Given the description of an element on the screen output the (x, y) to click on. 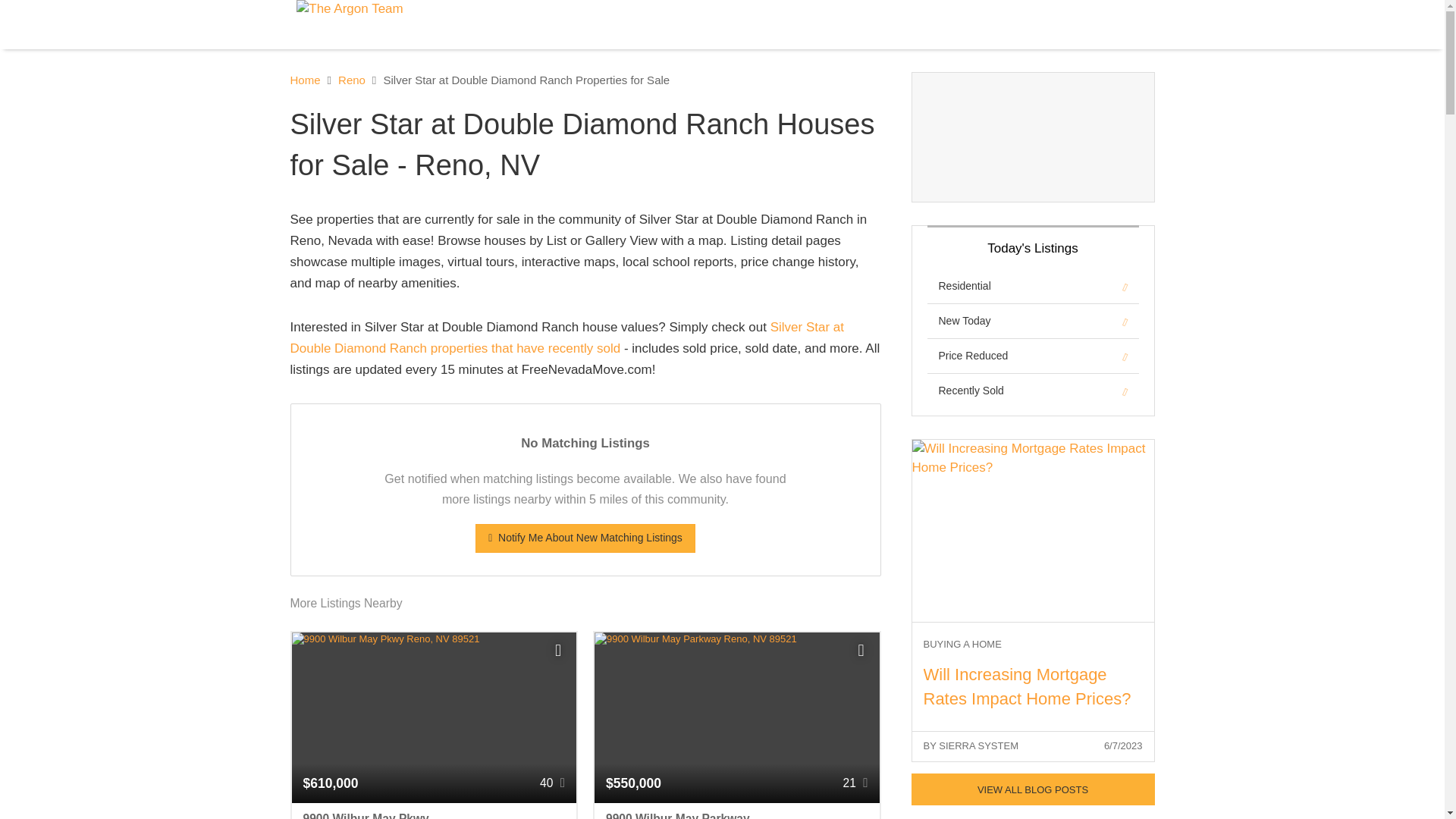
9900 Wilbur May Pkwy Reno,  NV 89521 (433, 811)
9900 Wilbur May Parkway Reno,  NV 89521 (736, 811)
